Given the description of an element on the screen output the (x, y) to click on. 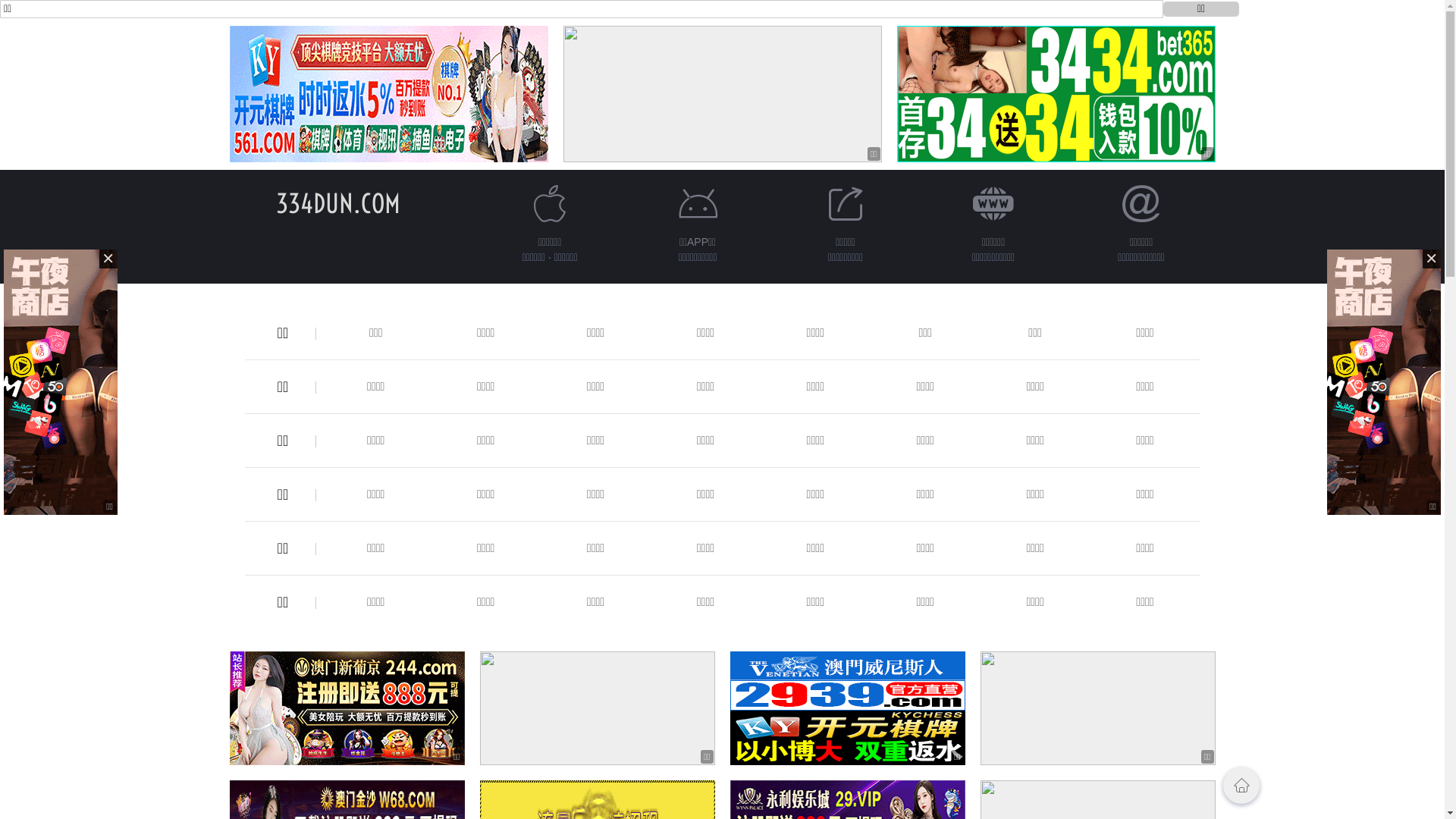
334DUN.COM Element type: text (338, 203)
